Given the description of an element on the screen output the (x, y) to click on. 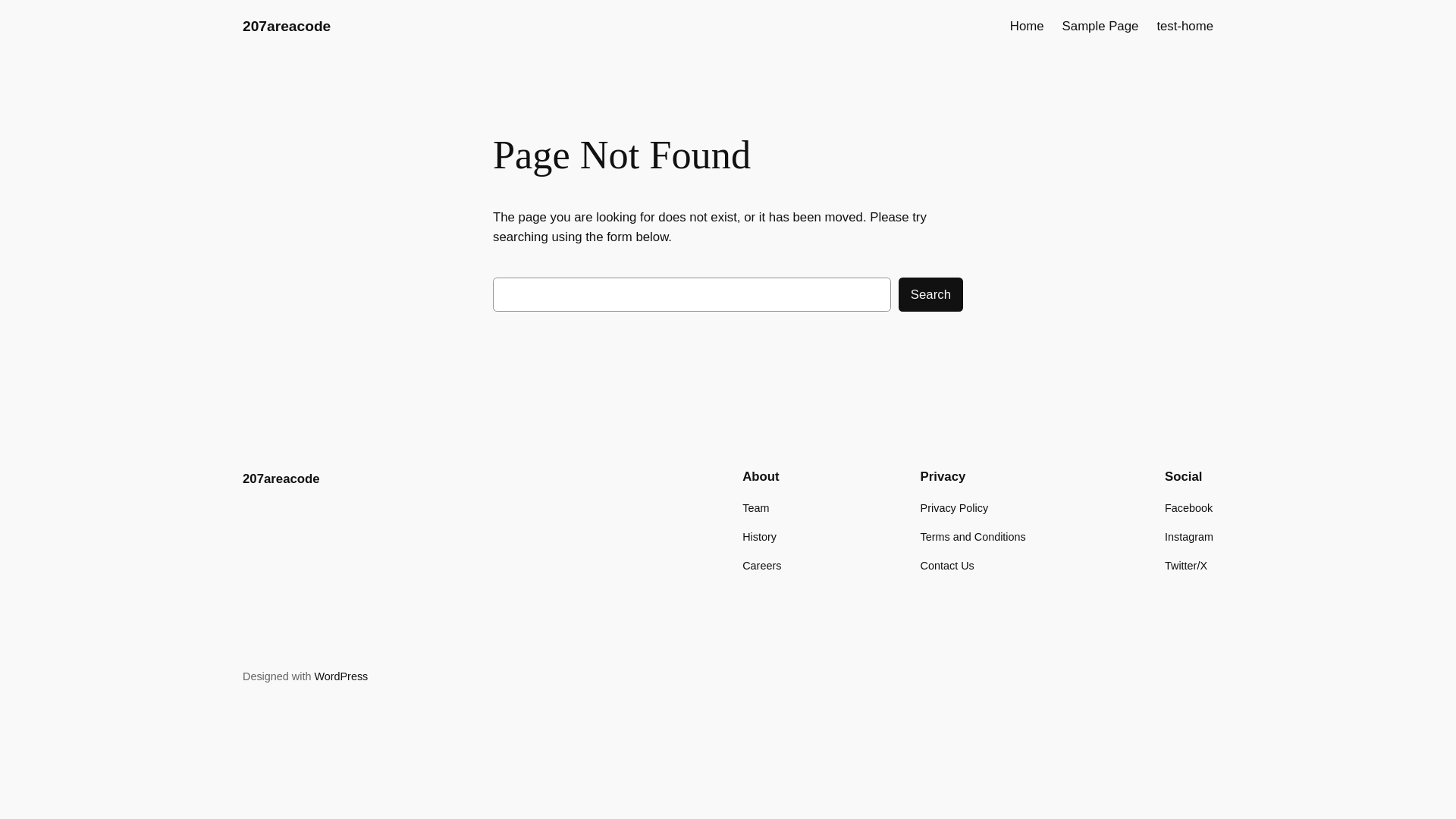
Team Element type: text (755, 507)
207areacode Element type: text (281, 478)
Careers Element type: text (761, 565)
Facebook Element type: text (1188, 507)
Terms and Conditions Element type: text (973, 536)
207areacode Element type: text (286, 26)
Sample Page Element type: text (1100, 26)
History Element type: text (759, 536)
WordPress Element type: text (340, 676)
Search Element type: text (930, 294)
Home Element type: text (1027, 26)
Twitter/X Element type: text (1185, 565)
Instagram Element type: text (1188, 536)
Contact Us Element type: text (947, 565)
test-home Element type: text (1184, 26)
Privacy Policy Element type: text (954, 507)
